Given the description of an element on the screen output the (x, y) to click on. 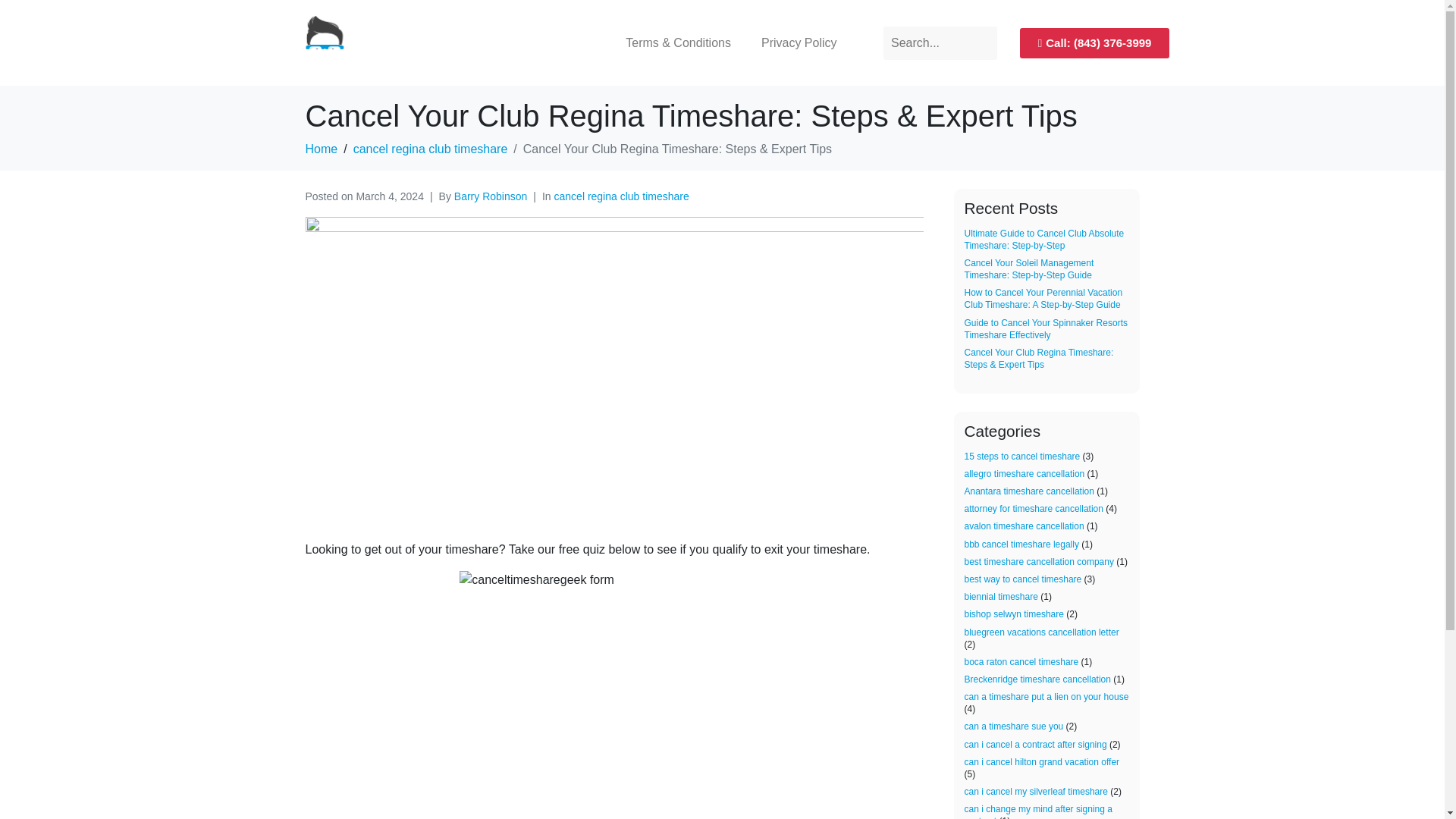
can a timeshare sue you (1013, 726)
best way to cancel timeshare (1022, 579)
cancel regina club timeshare (621, 196)
cancel regina club timeshare (430, 148)
bbb cancel timeshare legally (1020, 543)
Privacy Policy (798, 42)
bluegreen vacations cancellation letter (1041, 632)
can a timeshare put a lien on your house (1046, 696)
Home (320, 148)
avalon timeshare cancellation (1023, 525)
15 steps to cancel timeshare (1021, 456)
bishop selwyn timeshare (1013, 614)
Search (940, 42)
Anantara timeshare cancellation (1028, 491)
